Given the description of an element on the screen output the (x, y) to click on. 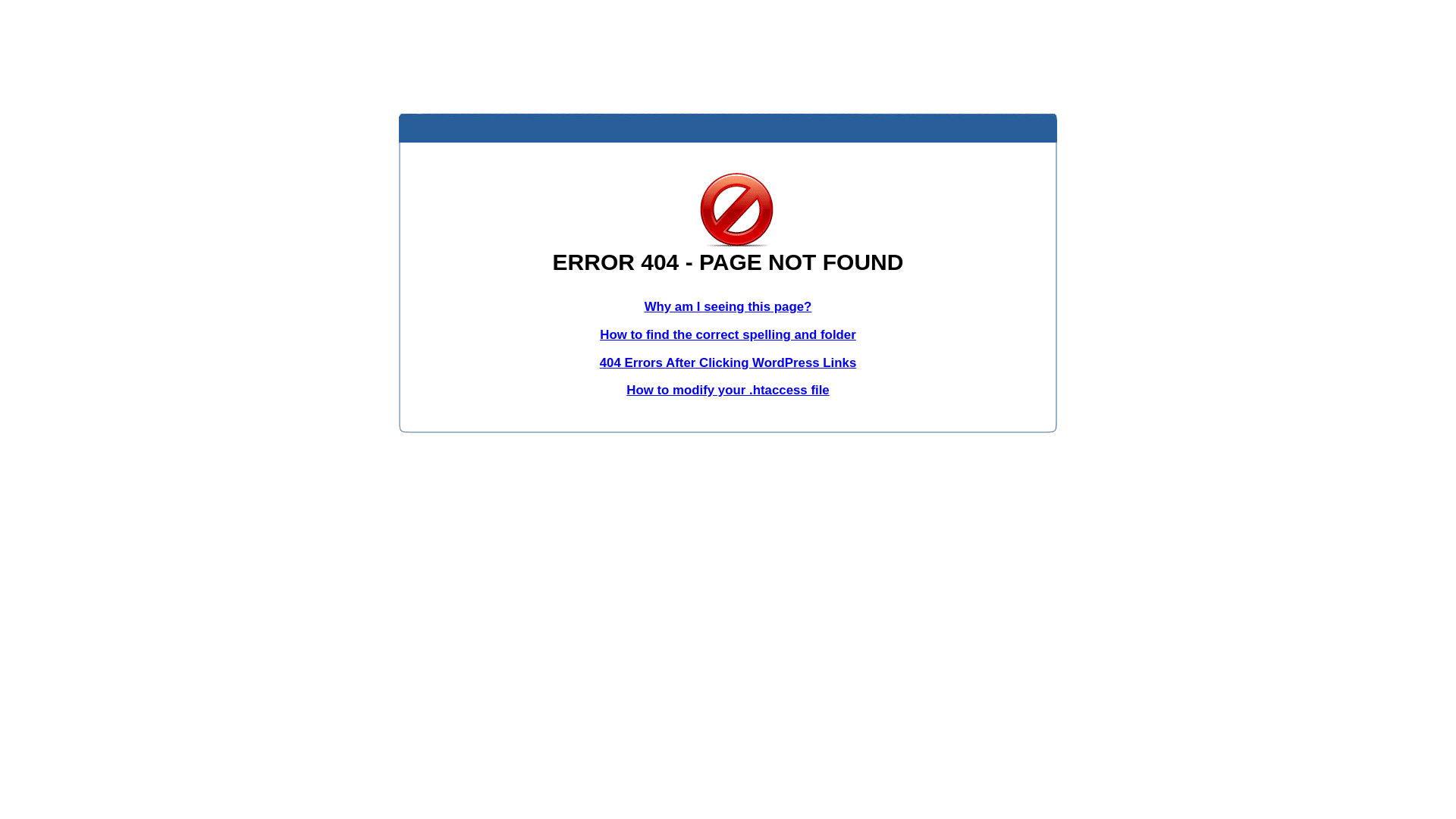
How to modify your .htaccess file Element type: text (727, 389)
404 Errors After Clicking WordPress Links Element type: text (727, 362)
Why am I seeing this page? Element type: text (728, 306)
How to find the correct spelling and folder Element type: text (727, 334)
